Given the description of an element on the screen output the (x, y) to click on. 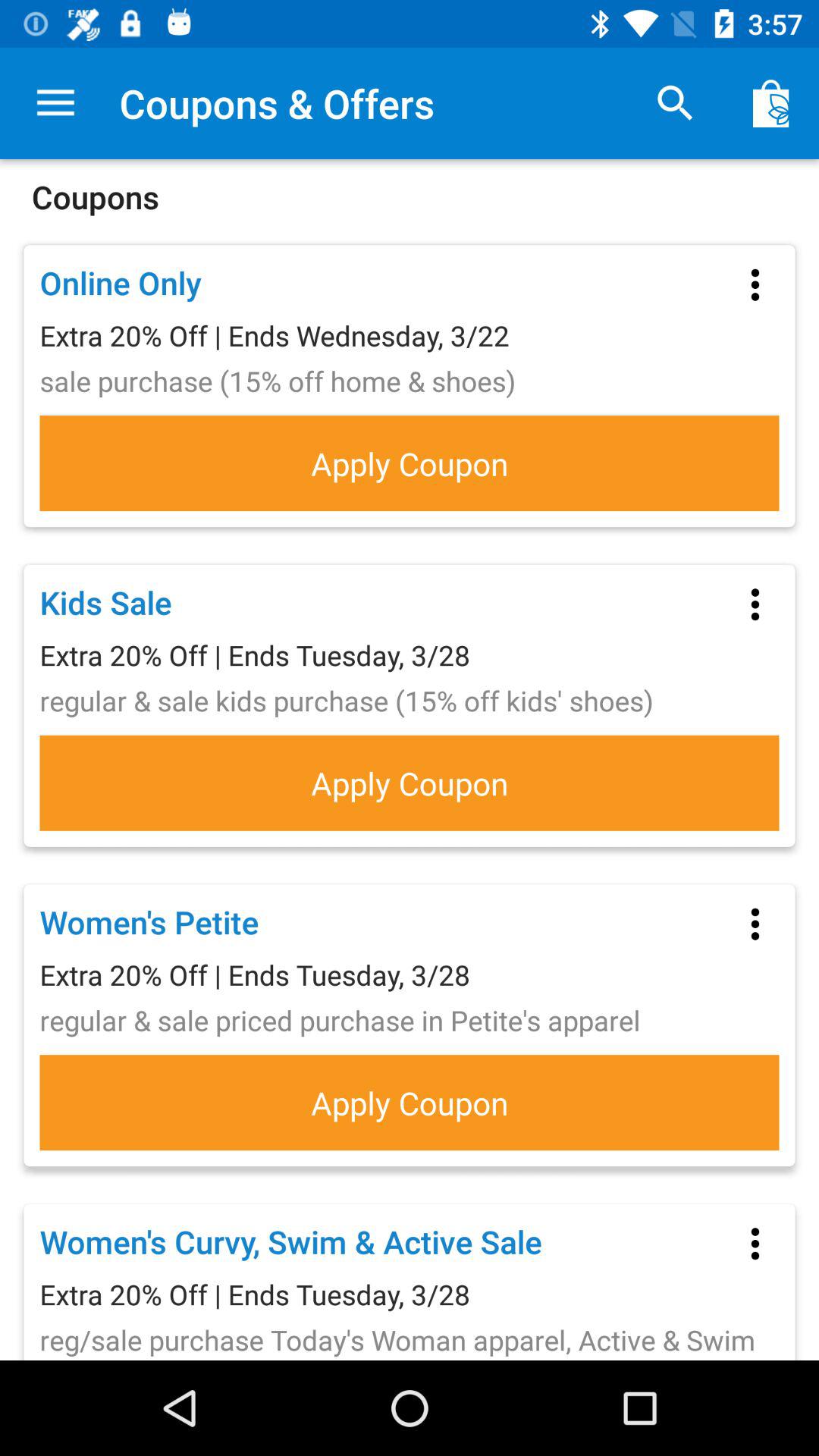
turn off icon above the coupons icon (771, 103)
